Given the description of an element on the screen output the (x, y) to click on. 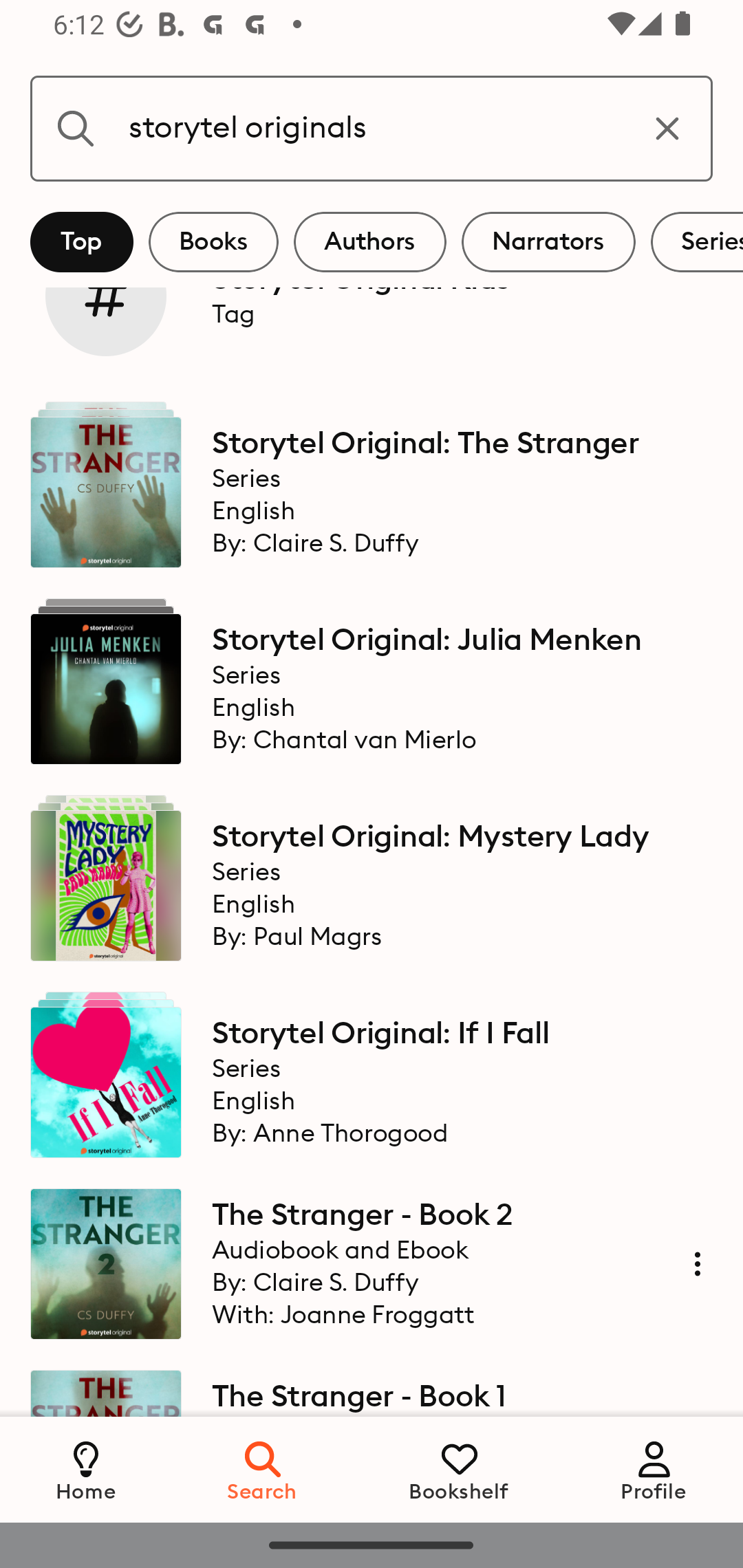
storytel originals (371, 128)
Home (85, 1468)
Search (262, 1468)
Bookshelf (458, 1468)
Profile (653, 1468)
